Given the description of an element on the screen output the (x, y) to click on. 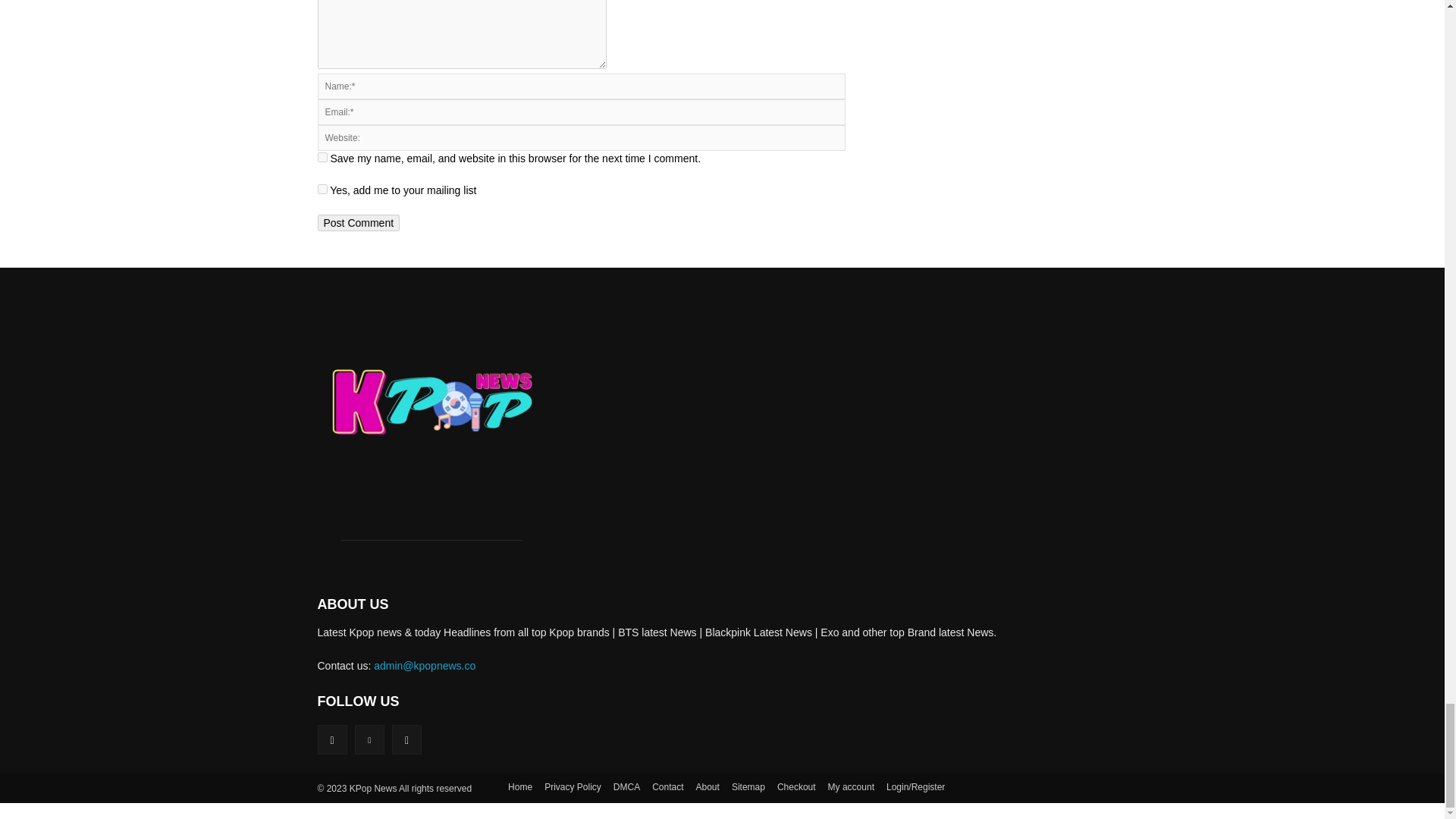
1 (321, 189)
Post Comment (357, 222)
yes (321, 157)
